Given the description of an element on the screen output the (x, y) to click on. 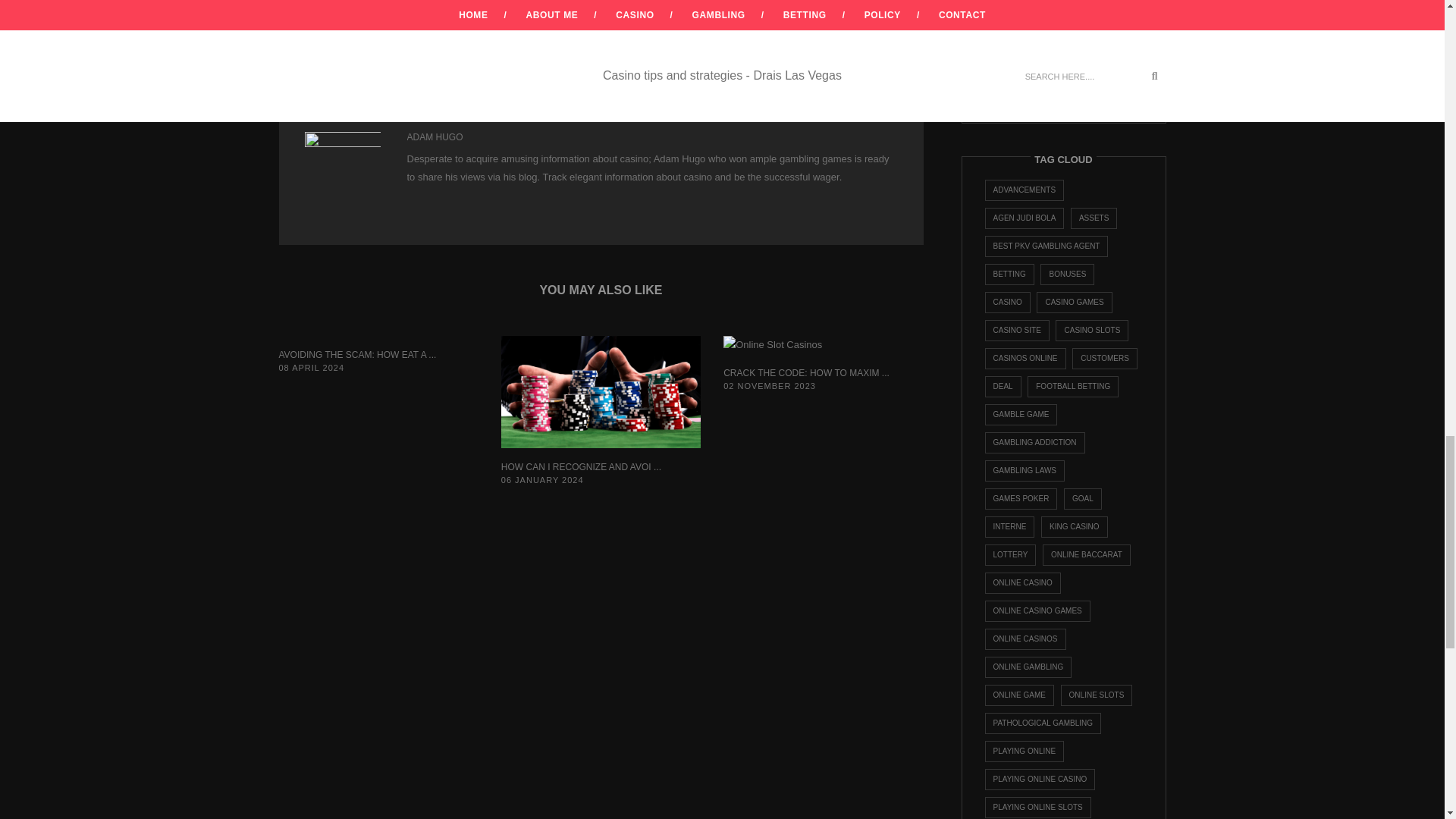
HOW CAN I RECOGNIZE AND AVOI ... (580, 466)
CRACK THE CODE: HOW TO MAXIM ... (806, 372)
AVOIDING THE SCAM: HOW EAT A ... (357, 353)
ADAM HUGO (434, 136)
